Given the description of an element on the screen output the (x, y) to click on. 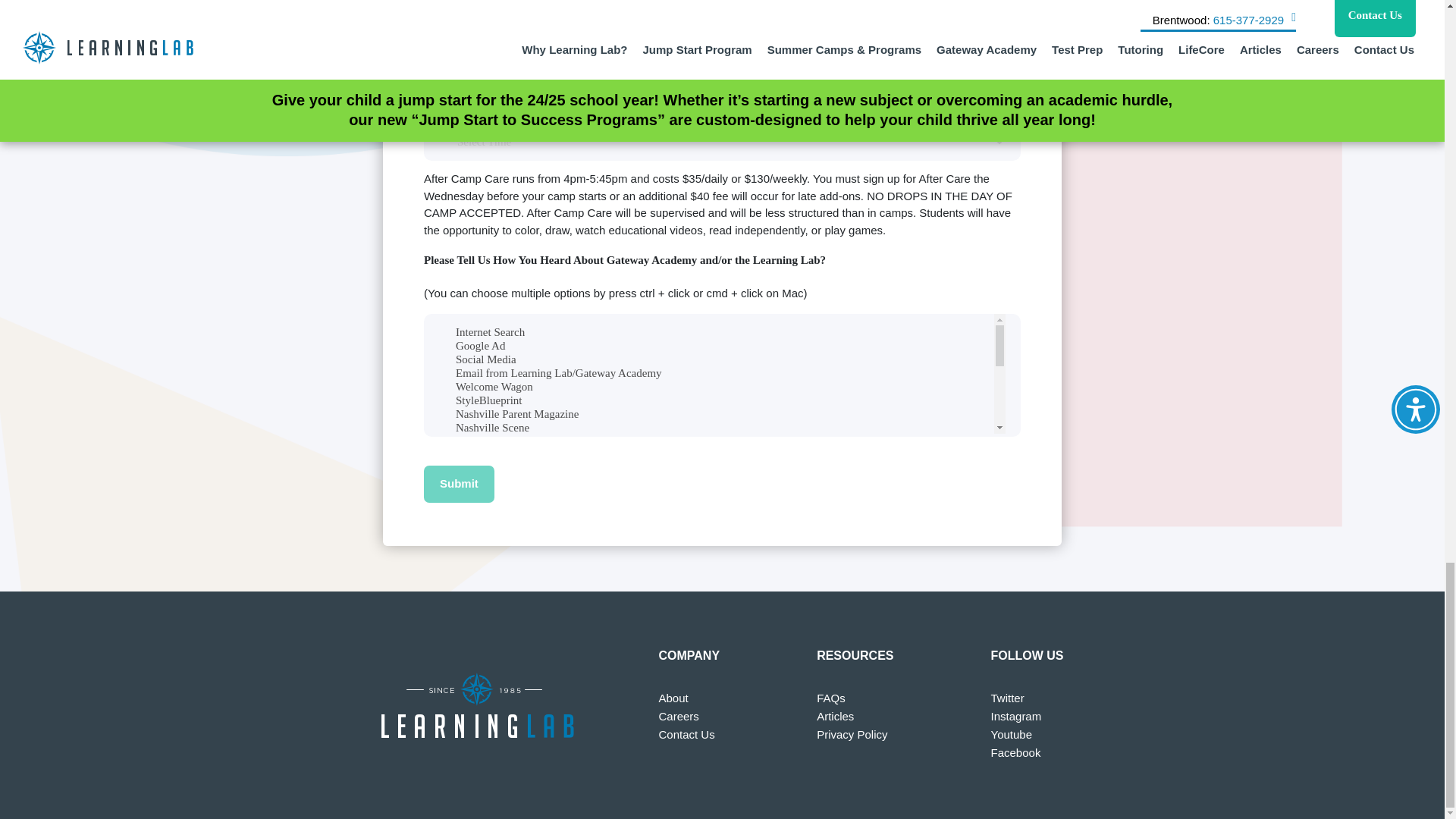
Facebook (1016, 752)
Careers (678, 715)
Contact Us (686, 733)
Articles (834, 715)
About (672, 697)
Submit (459, 484)
Privacy Policy (851, 733)
FAQs (830, 697)
Twitter (1008, 697)
Youtube (1011, 733)
Submit (459, 484)
Instagram (1016, 715)
